Given the description of an element on the screen output the (x, y) to click on. 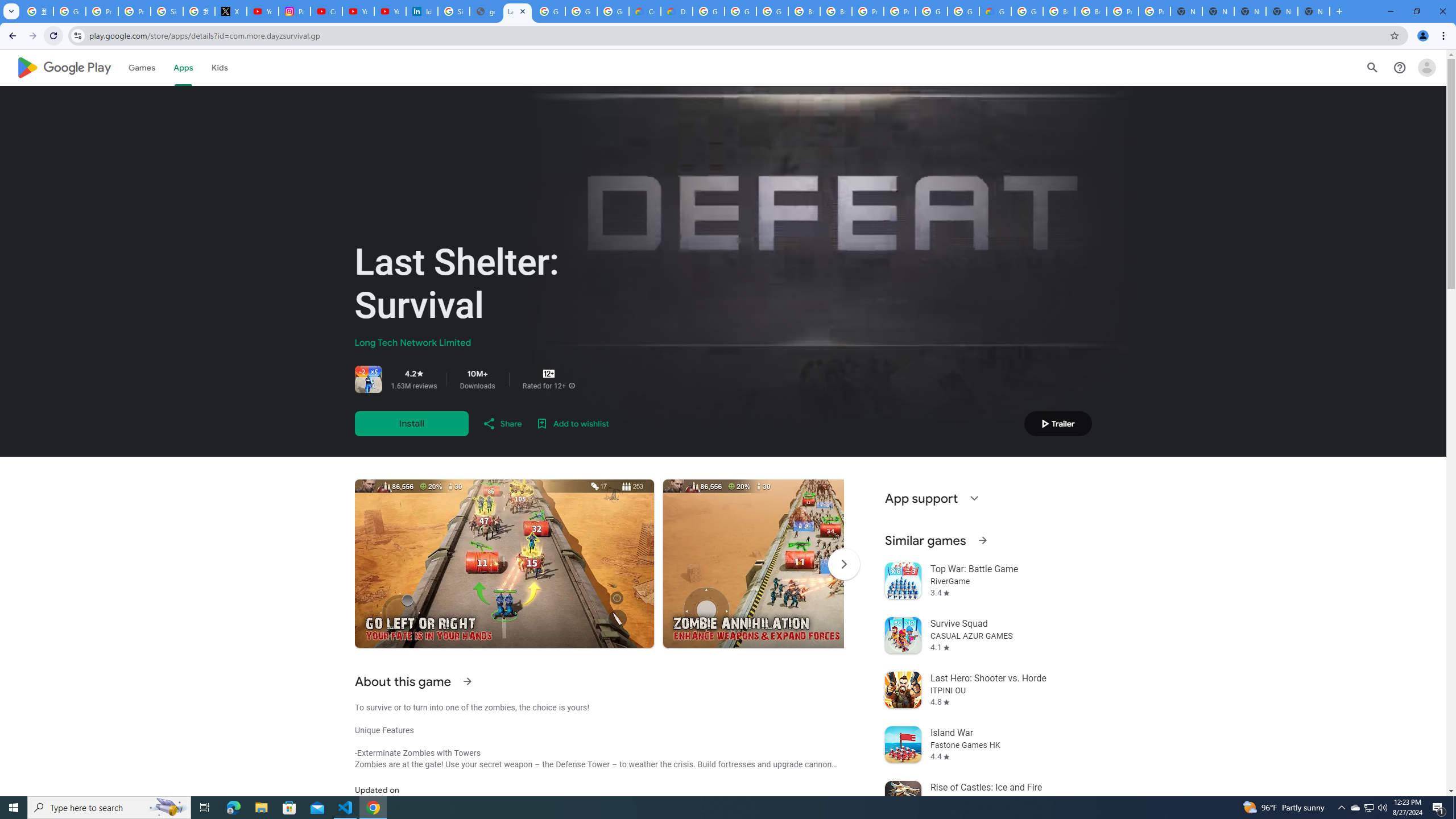
New Tab (1313, 11)
Google Cloud Estimate Summary (995, 11)
Scroll Next (843, 563)
Long Tech Network Limited (412, 342)
X (230, 11)
Privacy Help Center - Policies Help (101, 11)
Kids (219, 67)
Google Cloud Platform (708, 11)
